Given the description of an element on the screen output the (x, y) to click on. 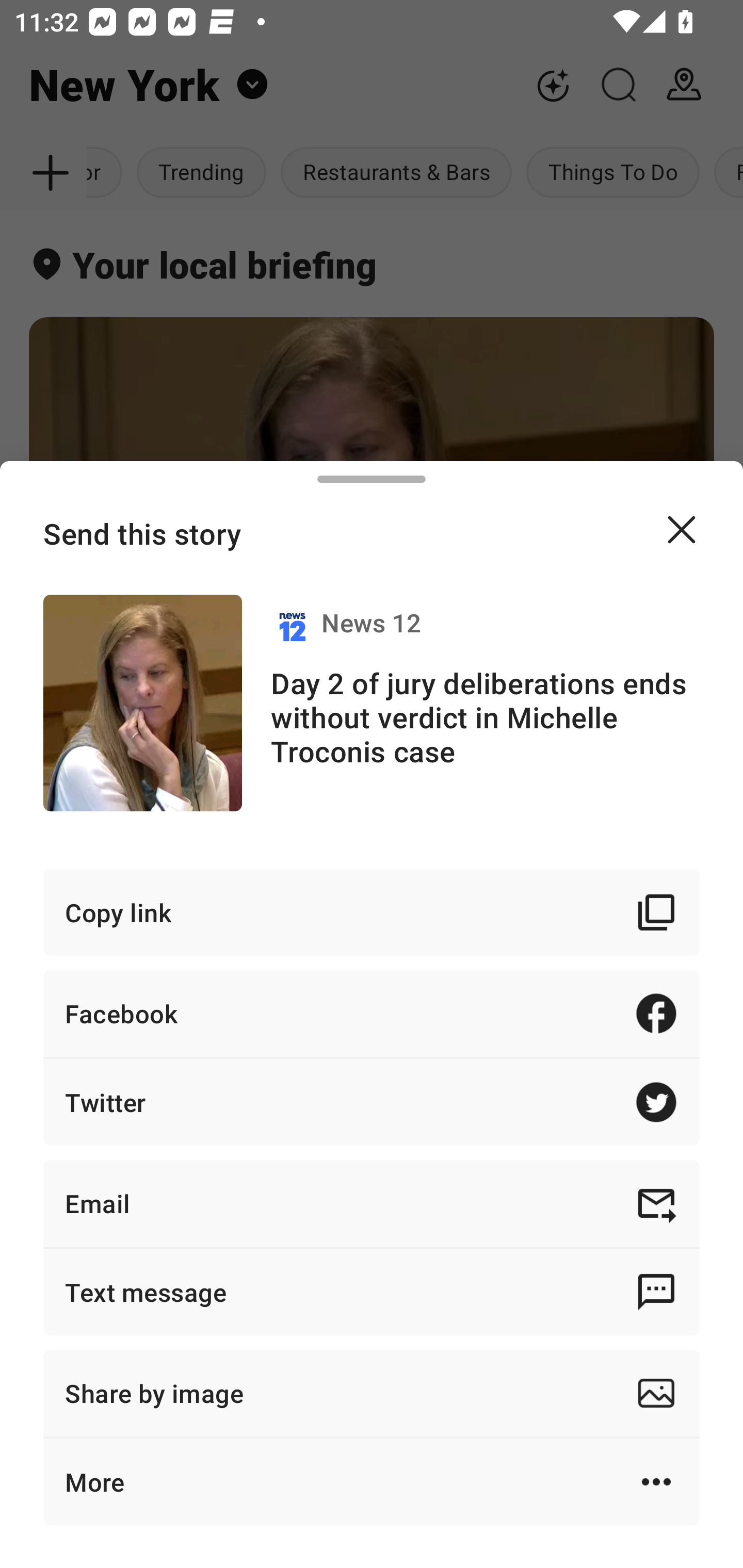
Copy link (371, 912)
Facebook (371, 1013)
Twitter (371, 1102)
Email (371, 1203)
Text message (371, 1291)
Share by image (371, 1393)
More (371, 1481)
